Given the description of an element on the screen output the (x, y) to click on. 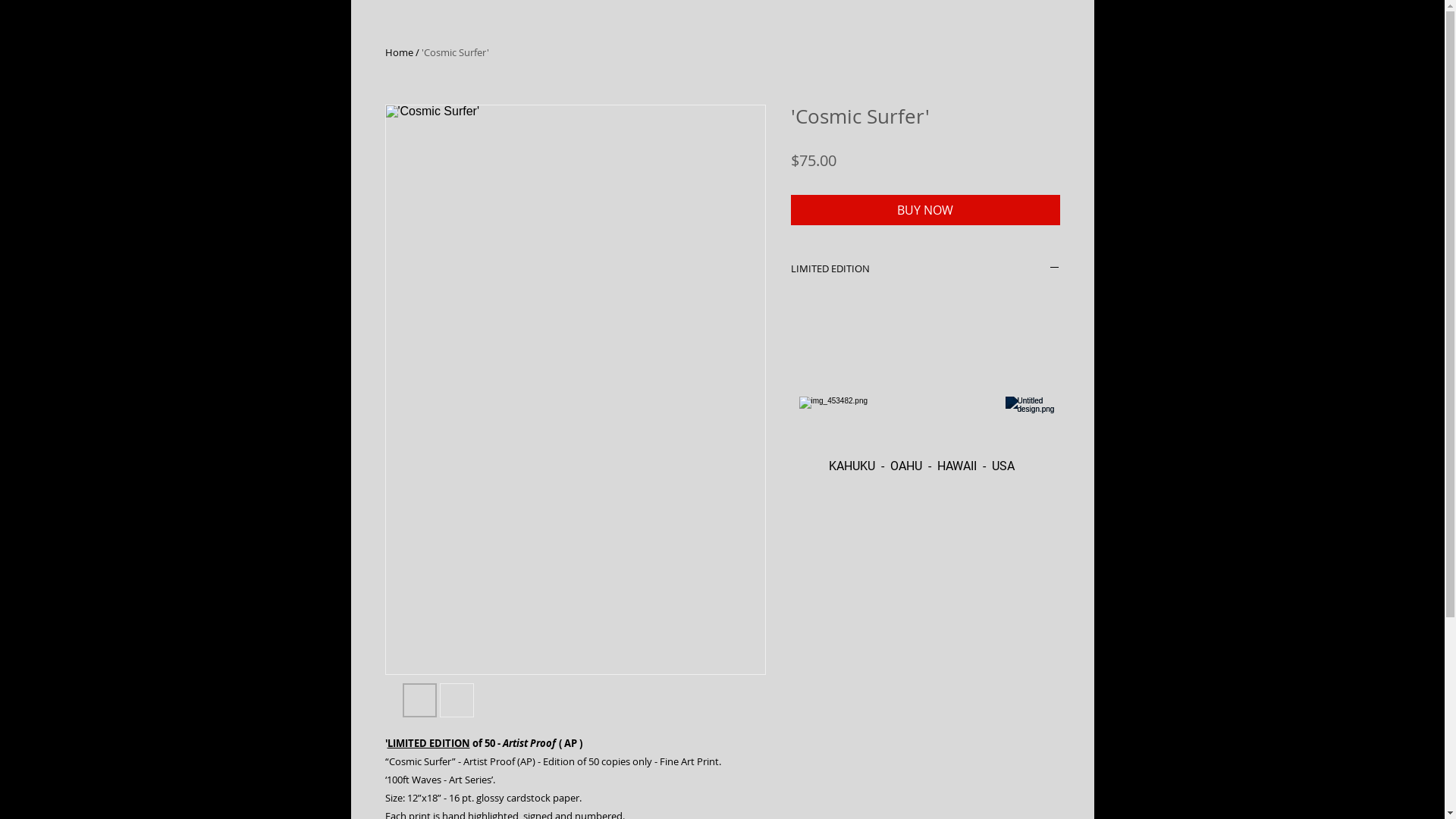
BUY NOW Element type: text (924, 209)
'Cosmic Surfer' Element type: text (455, 52)
Home Element type: text (399, 52)
LIMITED EDITION Element type: text (924, 268)
